Given the description of an element on the screen output the (x, y) to click on. 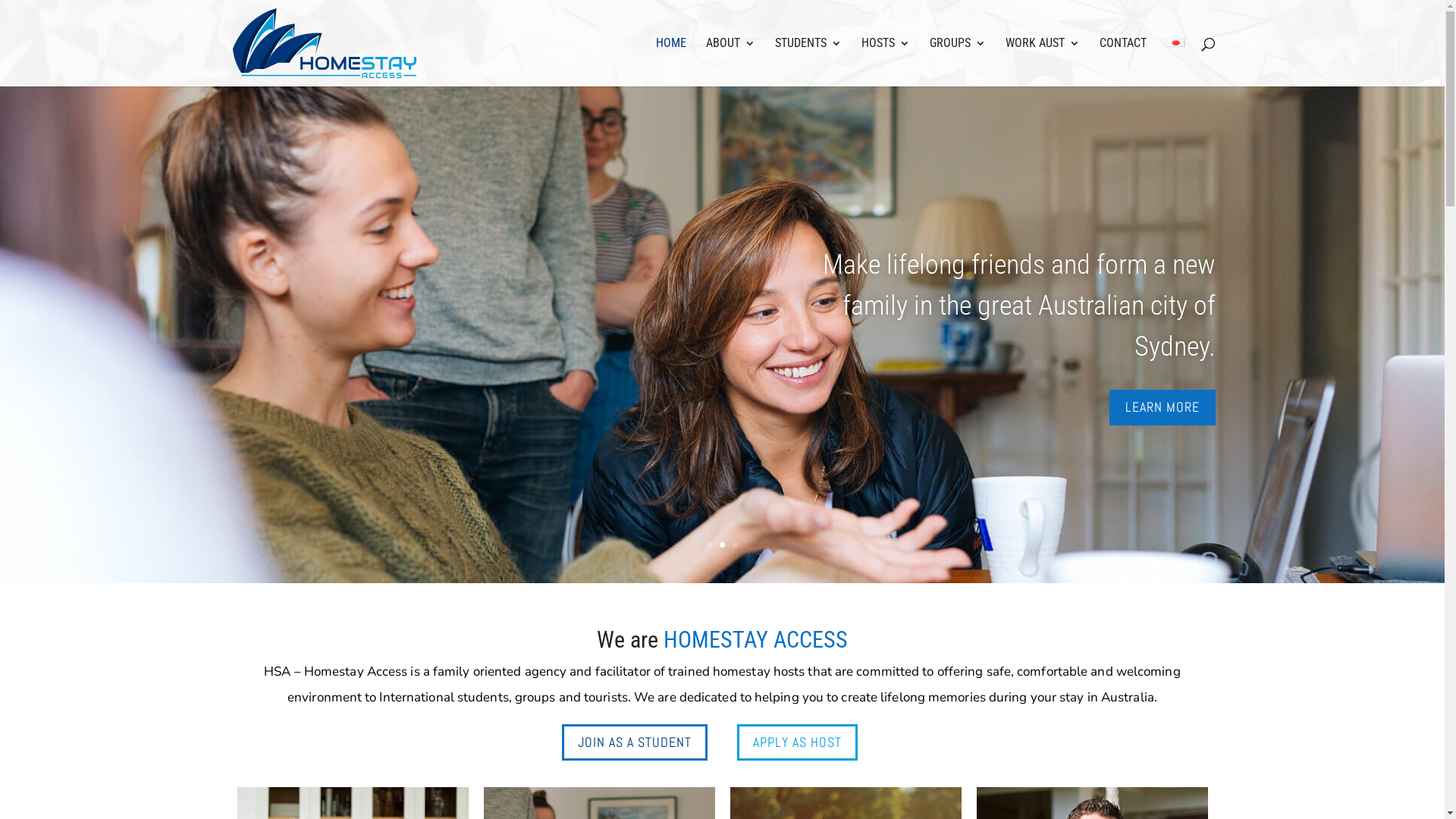
HOME Element type: text (670, 61)
3 Element type: text (734, 544)
GROUPS Element type: text (957, 61)
1 Element type: text (709, 544)
JOIN AS A STUDENT Element type: text (634, 741)
STUDENTS Element type: text (808, 61)
ABOUT Element type: text (729, 61)
HOSTS Element type: text (885, 61)
CONTACT Element type: text (1122, 61)
WORK AUST Element type: text (1042, 61)
APPLY AS HOST Element type: text (797, 741)
2 Element type: text (721, 544)
LEARN MORE Element type: text (1161, 407)
